Given the description of an element on the screen output the (x, y) to click on. 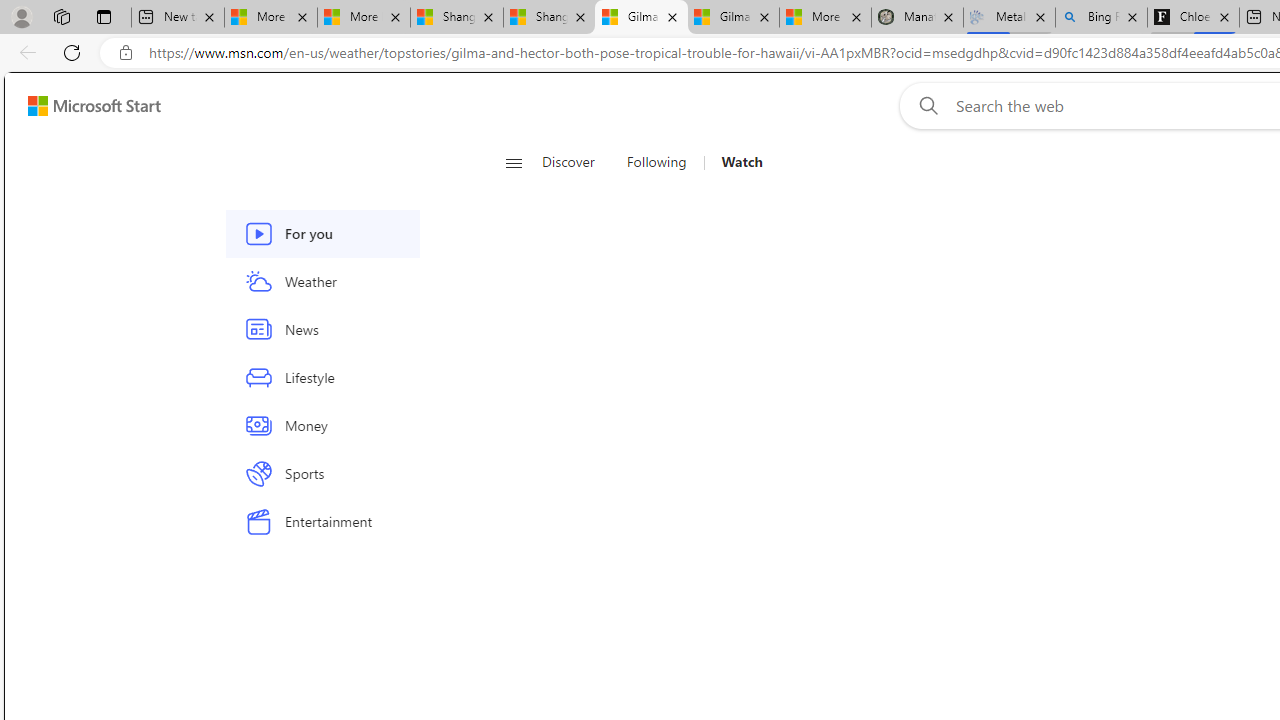
Chloe Sorvino (1193, 17)
Open navigation menu (513, 162)
Watch (734, 162)
Shanghai, China weather forecast | Microsoft Weather (549, 17)
Skip to content (86, 105)
